Given the description of an element on the screen output the (x, y) to click on. 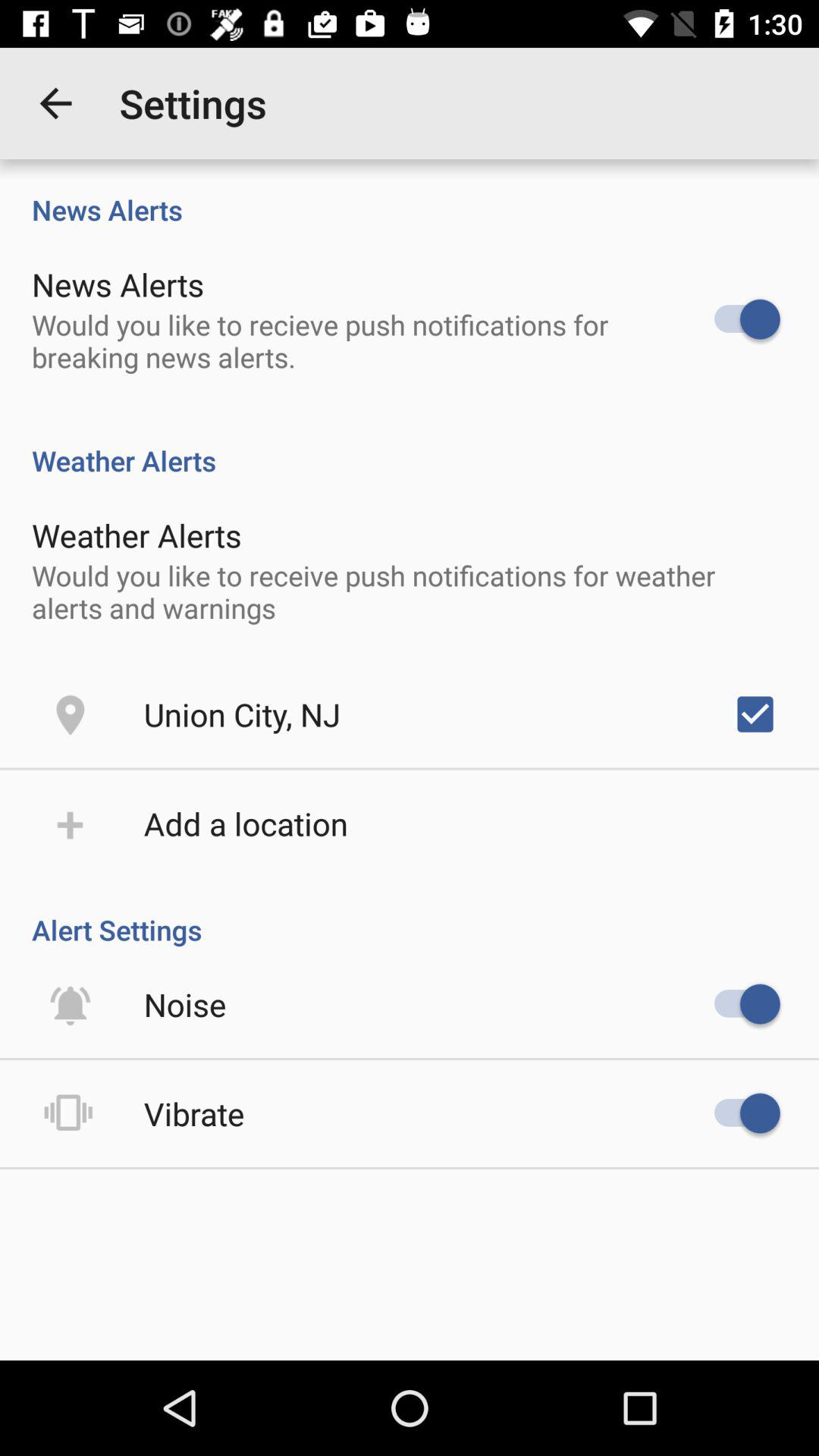
choose the item on the right (755, 714)
